Given the description of an element on the screen output the (x, y) to click on. 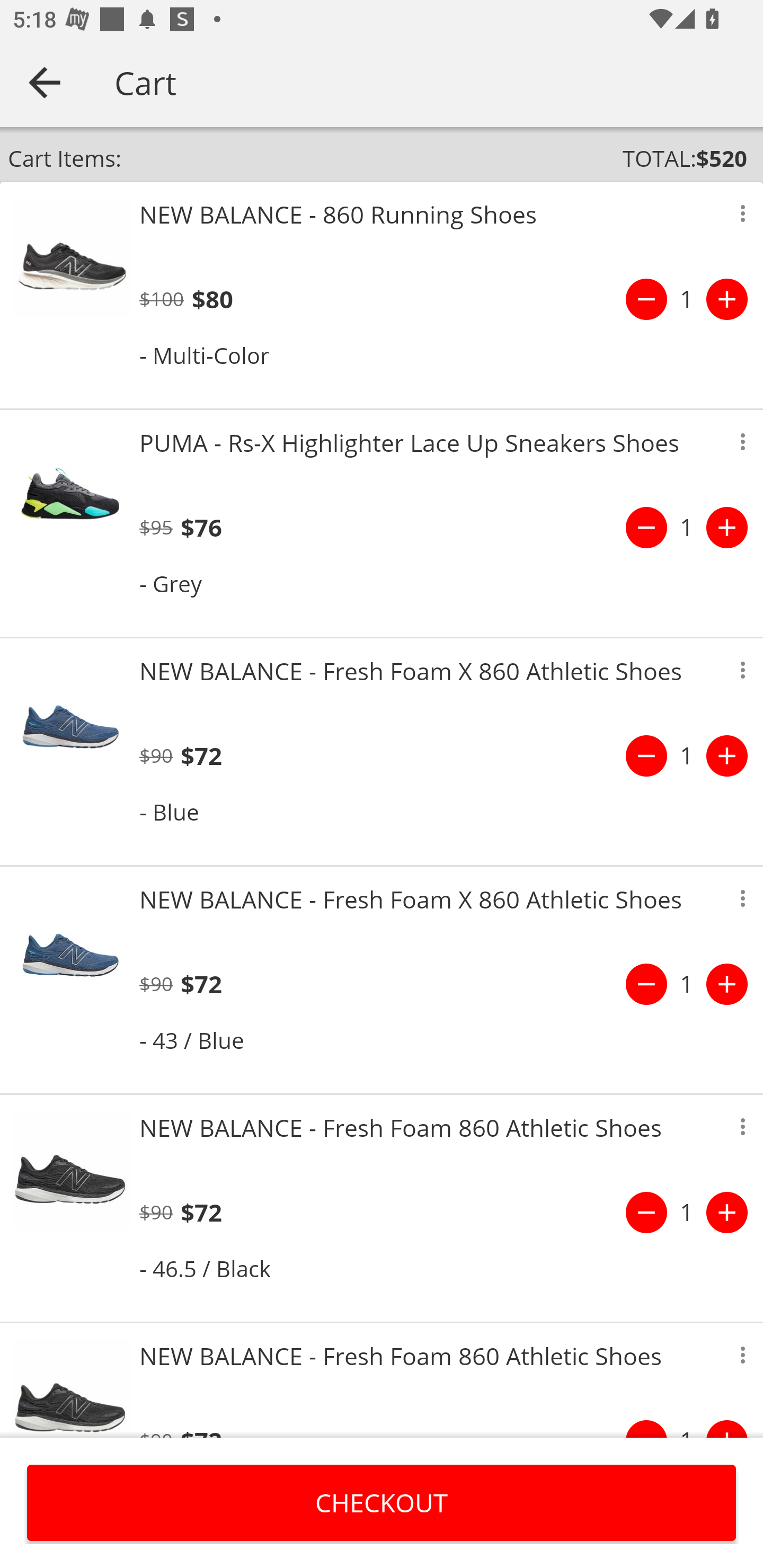
Navigate up (44, 82)
1 (686, 299)
1 (686, 527)
1 (686, 755)
1 (686, 984)
1 (686, 1211)
CHECKOUT (381, 1502)
